Given the description of an element on the screen output the (x, y) to click on. 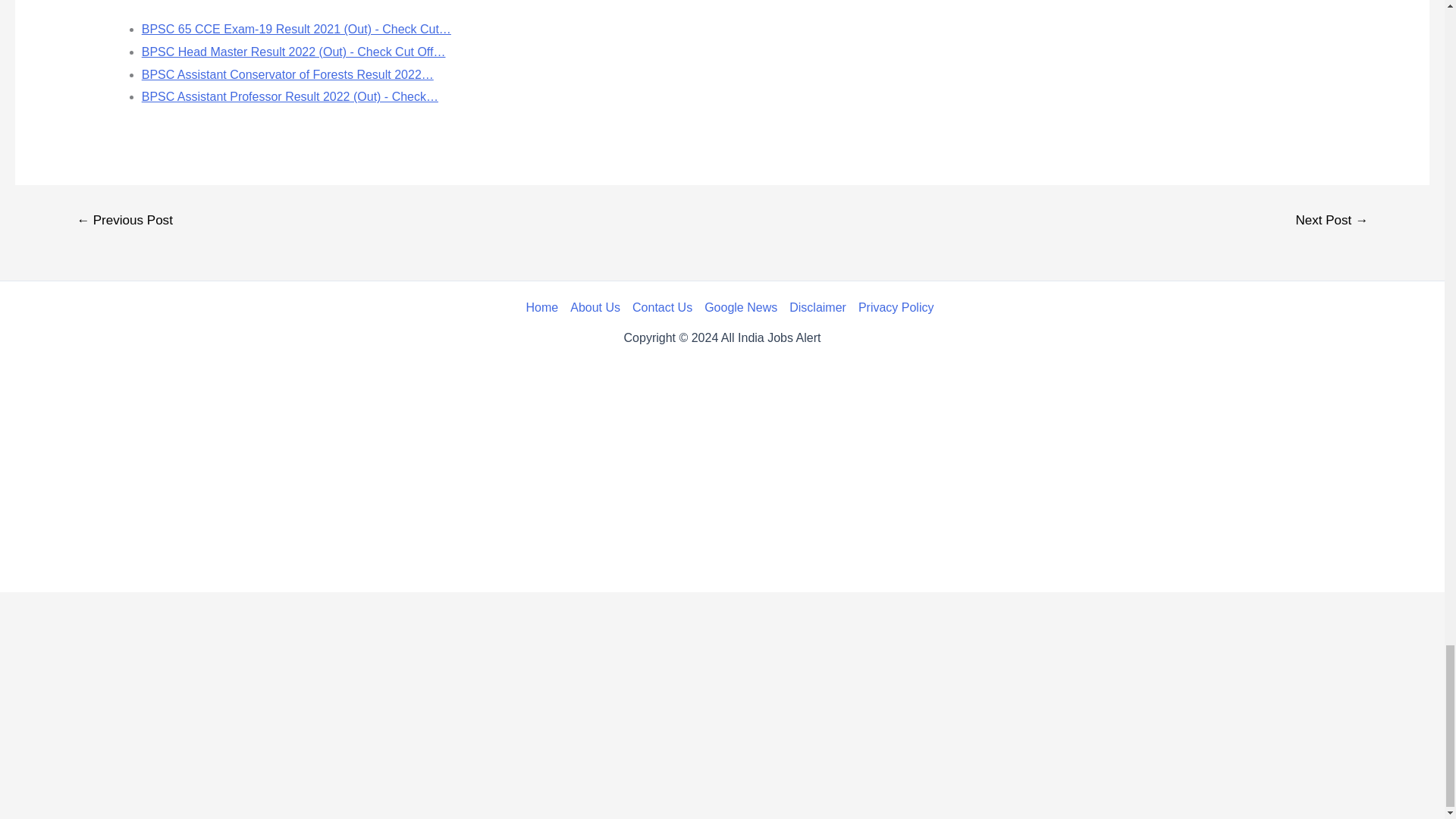
Contact Us (662, 307)
Google News (740, 307)
Home (544, 307)
About Us (595, 307)
